Given the description of an element on the screen output the (x, y) to click on. 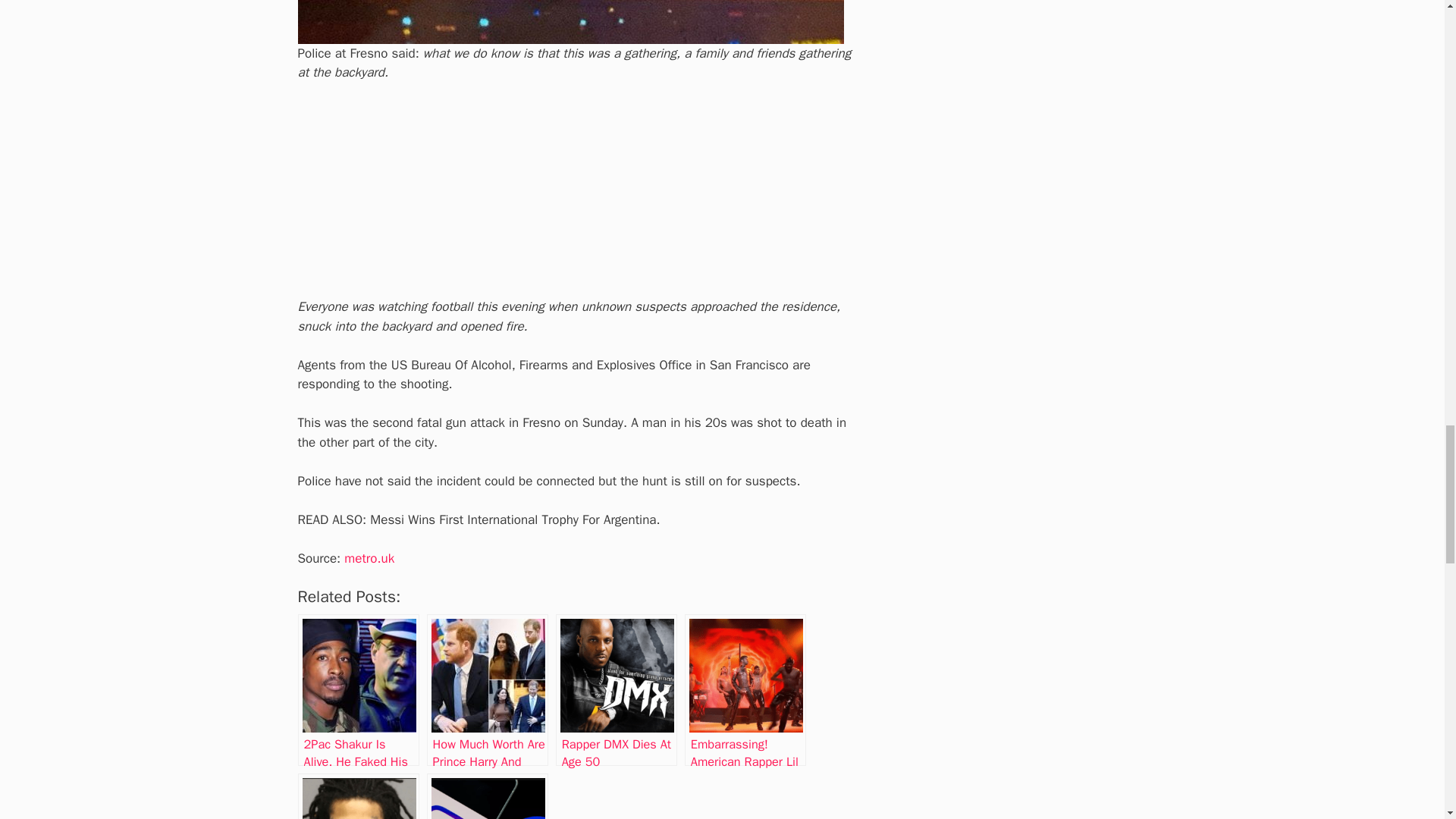
Facebook And Instagram Shuts For 2nd Time In A Week (487, 796)
Facebook And Instagram Shuts For 2nd Time In A Week (487, 796)
metro.uk (368, 558)
